Given the description of an element on the screen output the (x, y) to click on. 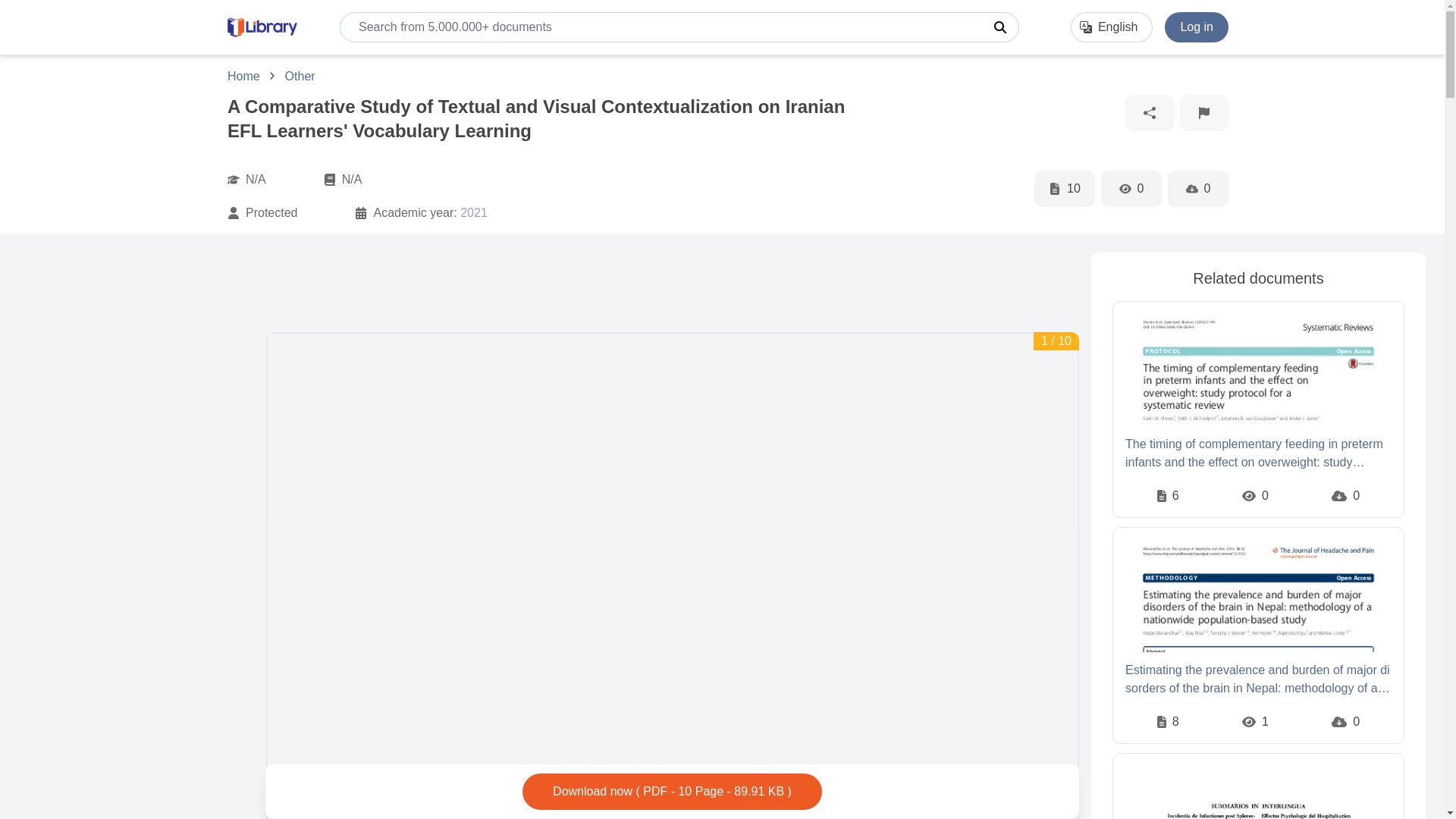
Share (1149, 113)
Home (245, 75)
Other (300, 75)
Advertisement (540, 286)
Search (999, 27)
English (1111, 27)
Report (1203, 113)
Log in (1196, 27)
